Given the description of an element on the screen output the (x, y) to click on. 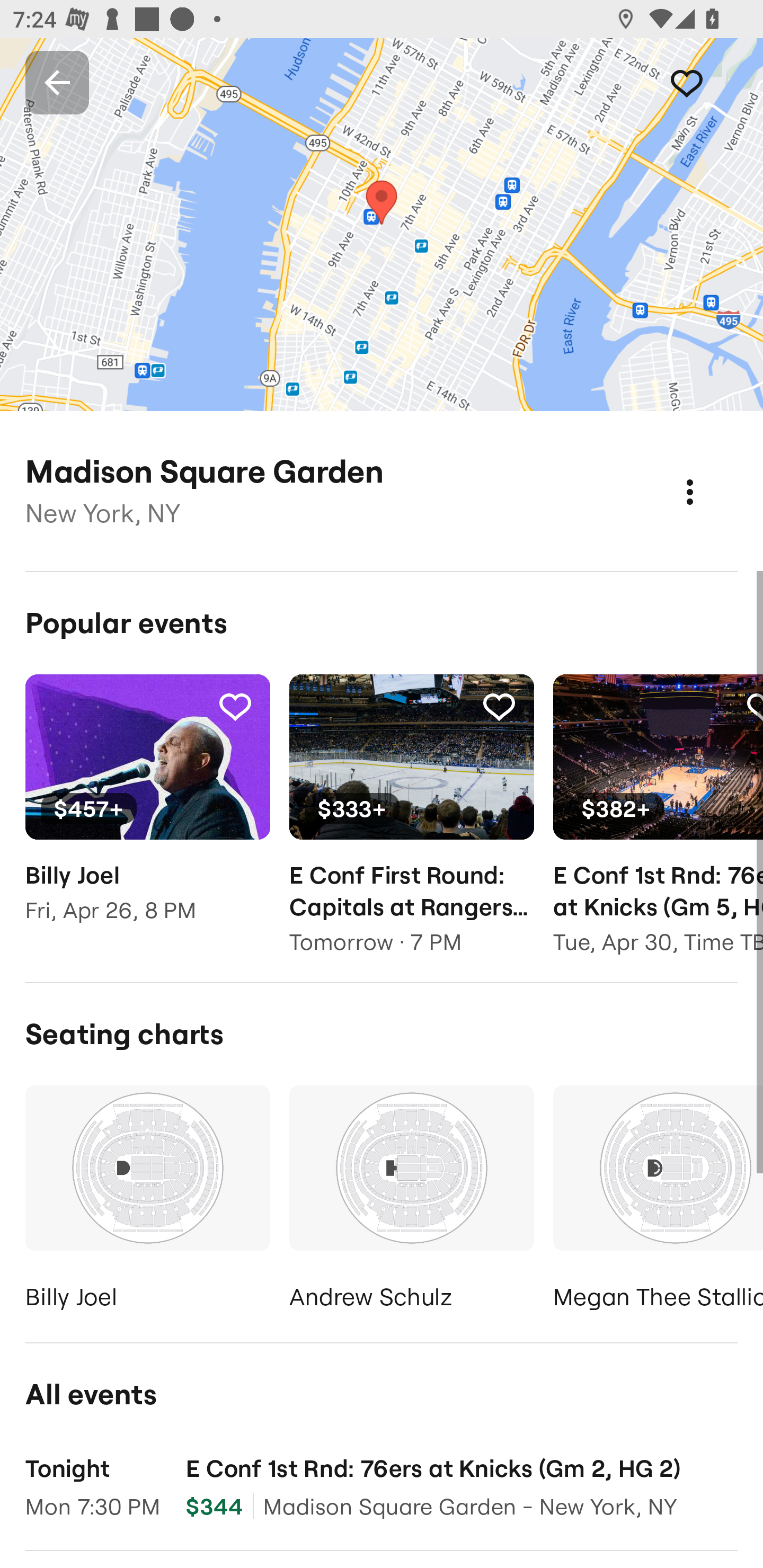
Back (57, 81)
Tracking (705, 81)
See more options (708, 472)
Tracking $457+ Billy Joel Fri, Apr 26, 8 PM (147, 811)
Tracking (234, 705)
Tracking (498, 705)
Billy Joel (147, 1201)
Andrew Schulz (411, 1201)
Megan Thee Stallion with GloRilla (658, 1201)
